Given the description of an element on the screen output the (x, y) to click on. 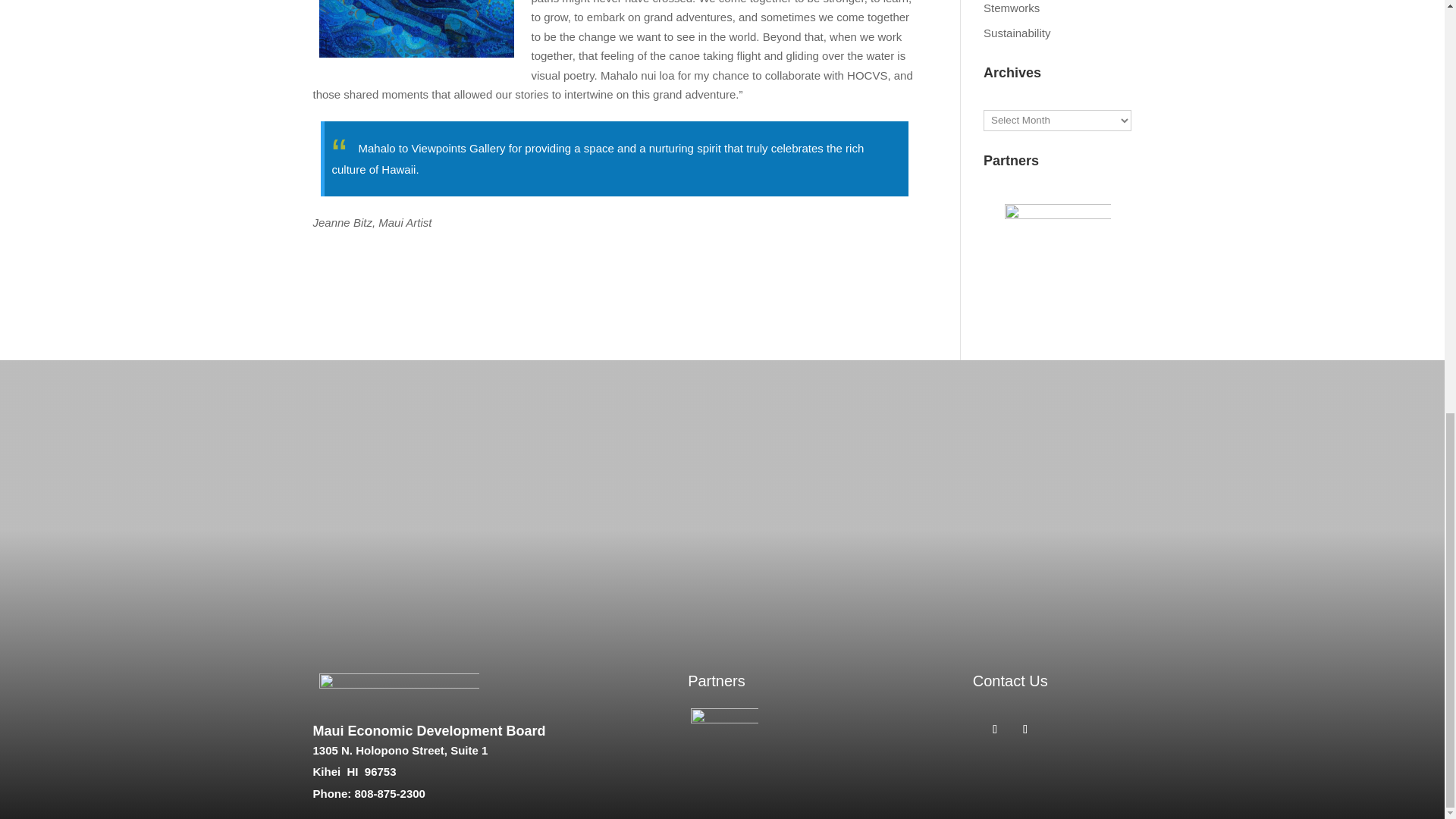
Stemworks (1011, 7)
Follow on Facebook (994, 729)
Follow on X (1024, 729)
Sustainability (1016, 32)
Contact Us (1010, 680)
